Given the description of an element on the screen output the (x, y) to click on. 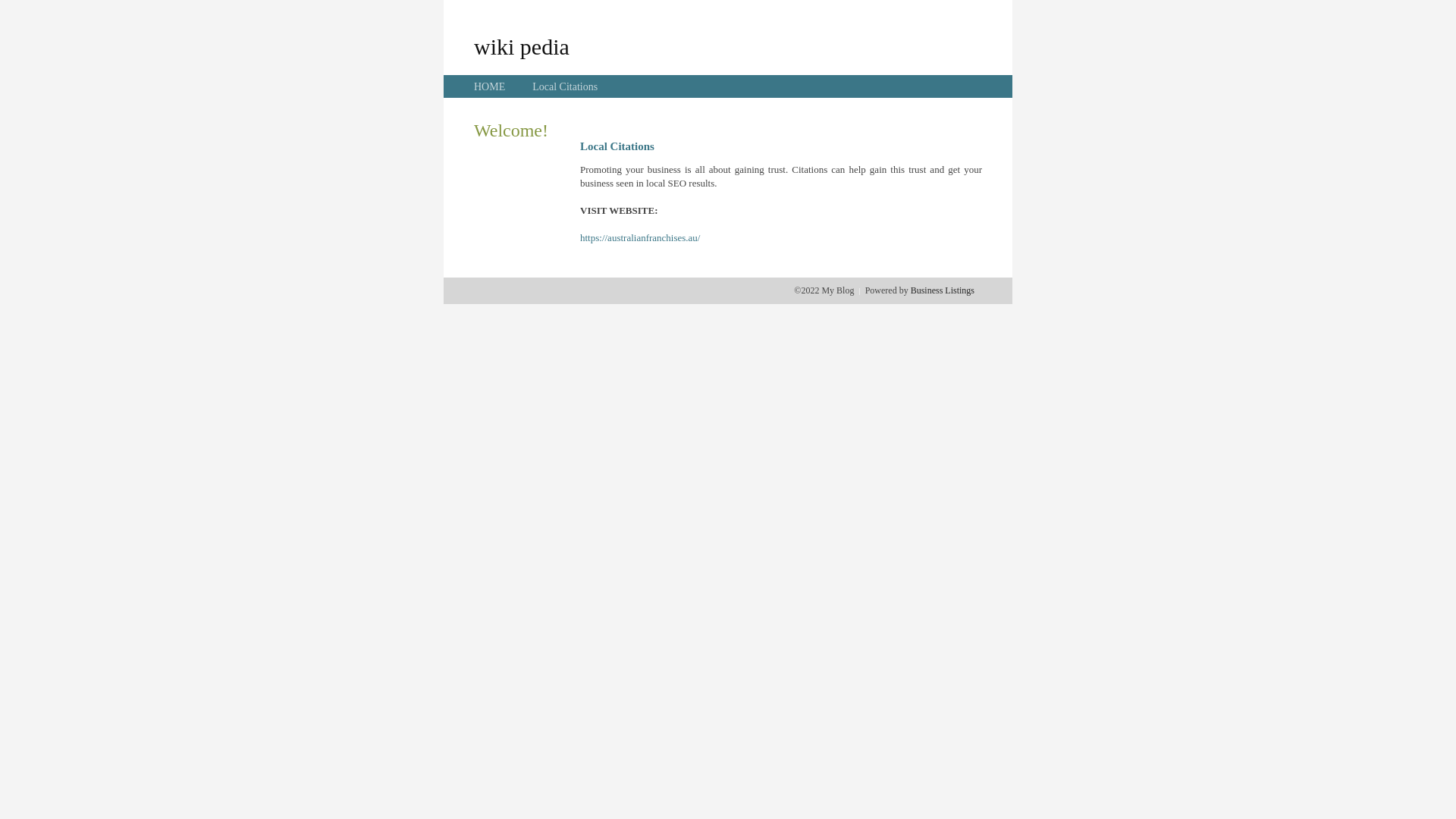
Local Citations Element type: text (564, 86)
HOME Element type: text (489, 86)
Business Listings Element type: text (942, 290)
wiki pedia Element type: text (521, 46)
https://australianfranchises.au/ Element type: text (639, 237)
